Given the description of an element on the screen output the (x, y) to click on. 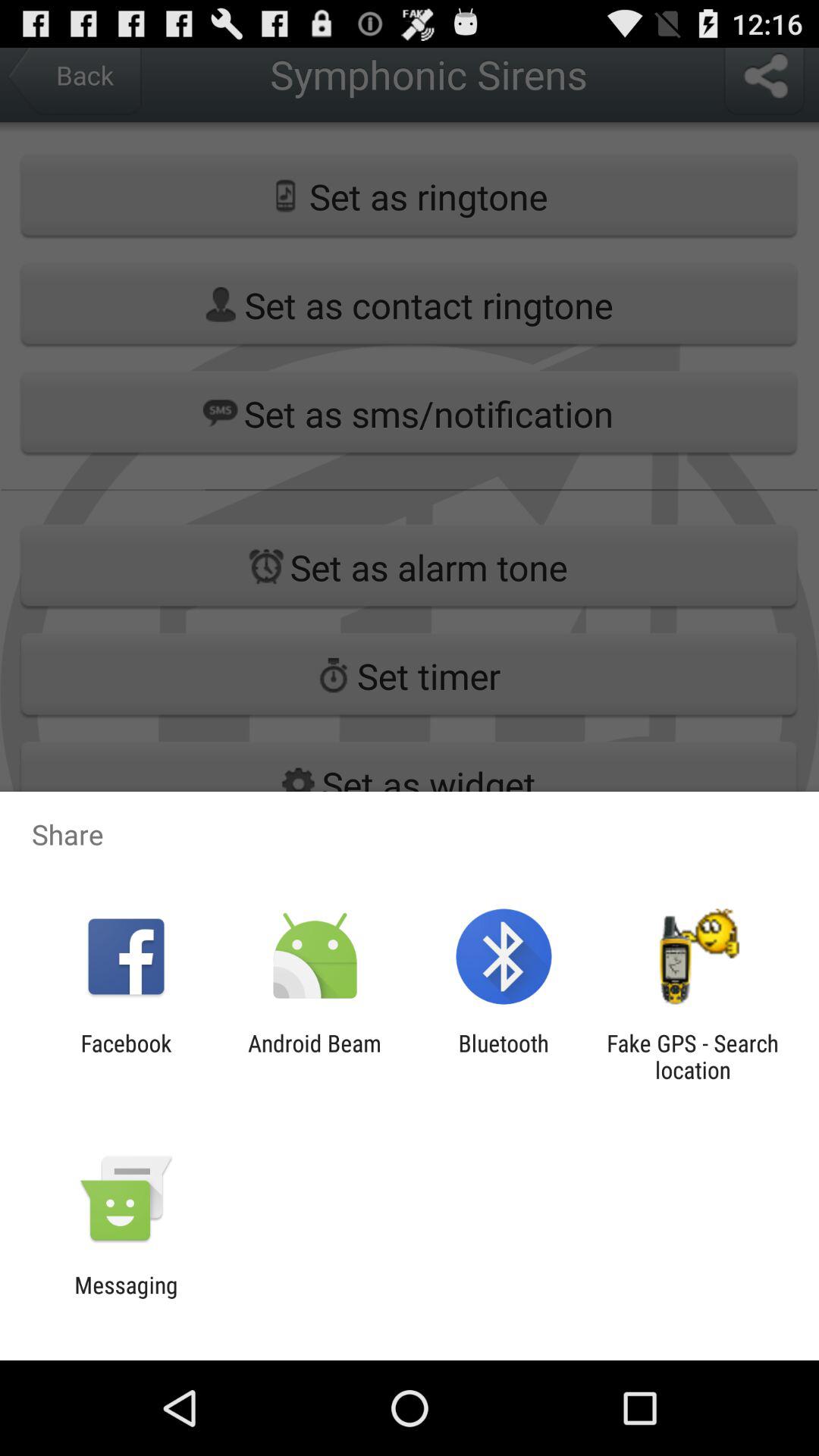
jump to bluetooth app (503, 1056)
